Given the description of an element on the screen output the (x, y) to click on. 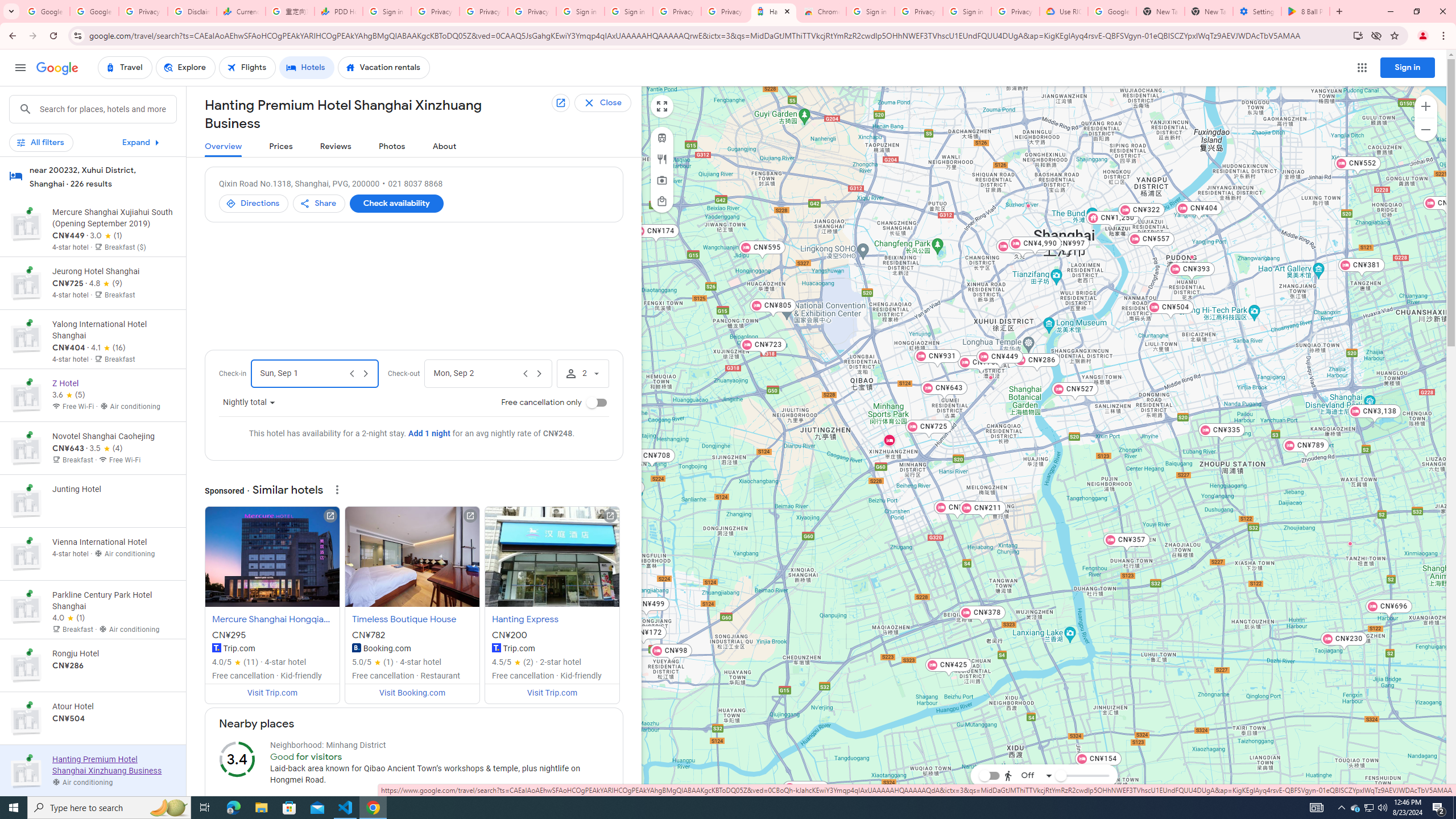
4.8 out of 5 stars from 9 reviews (105, 283)
Privacy Checkup (532, 11)
Venus International Hotel Shanghai South Shenjiang Road (1349, 543)
Toggle reachability layer (988, 775)
Keyboard shortcuts (1285, 791)
View prices for Jeurong Hotel Shanghai (113, 322)
